Given the description of an element on the screen output the (x, y) to click on. 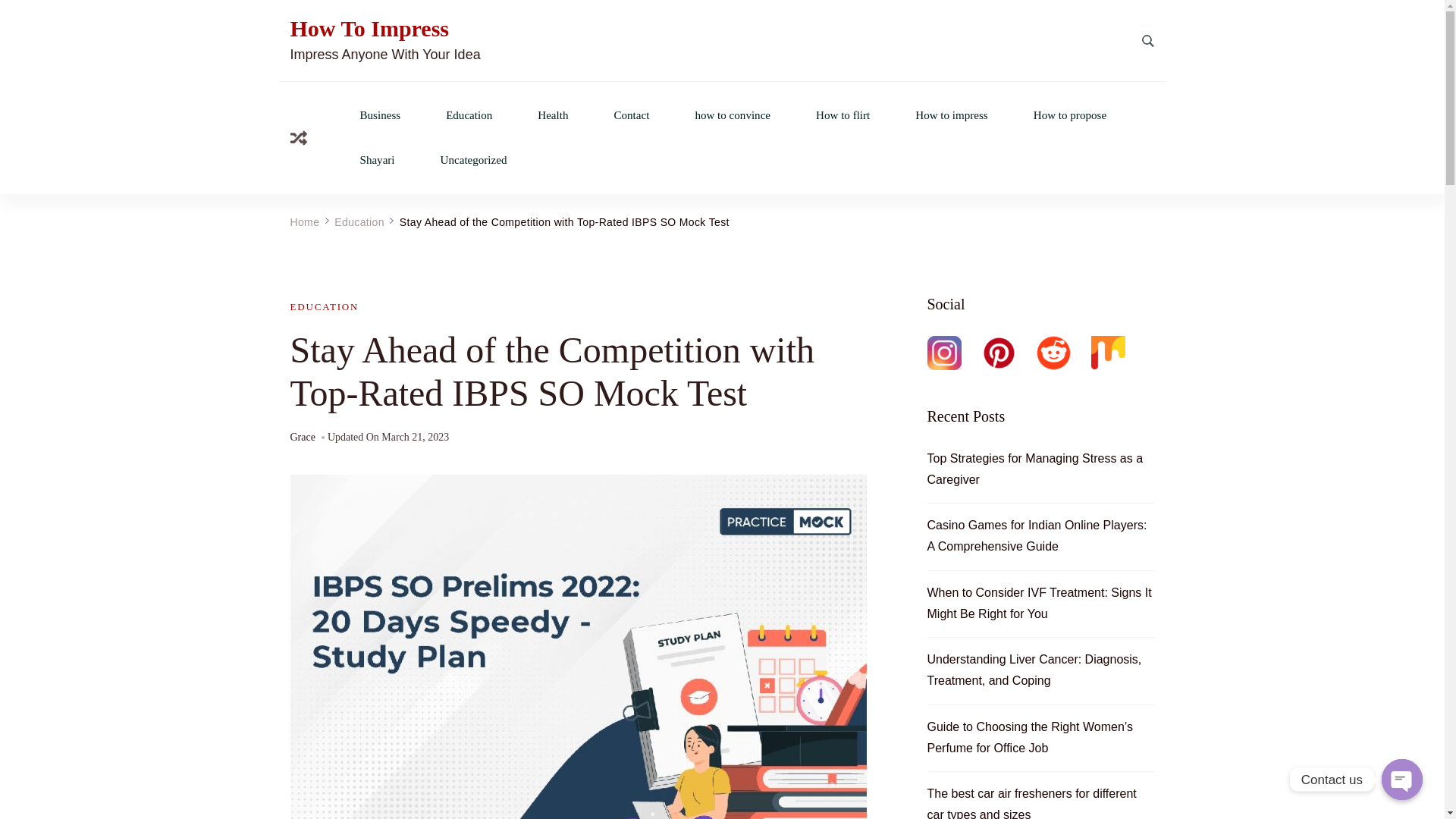
How to propose (1069, 114)
Contact (630, 114)
how to convince (732, 114)
Business (379, 114)
Uncategorized (473, 160)
Education (468, 114)
Shayari (376, 160)
How to impress (951, 114)
How To Impress (368, 28)
Health (552, 114)
How to flirt (842, 114)
